Given the description of an element on the screen output the (x, y) to click on. 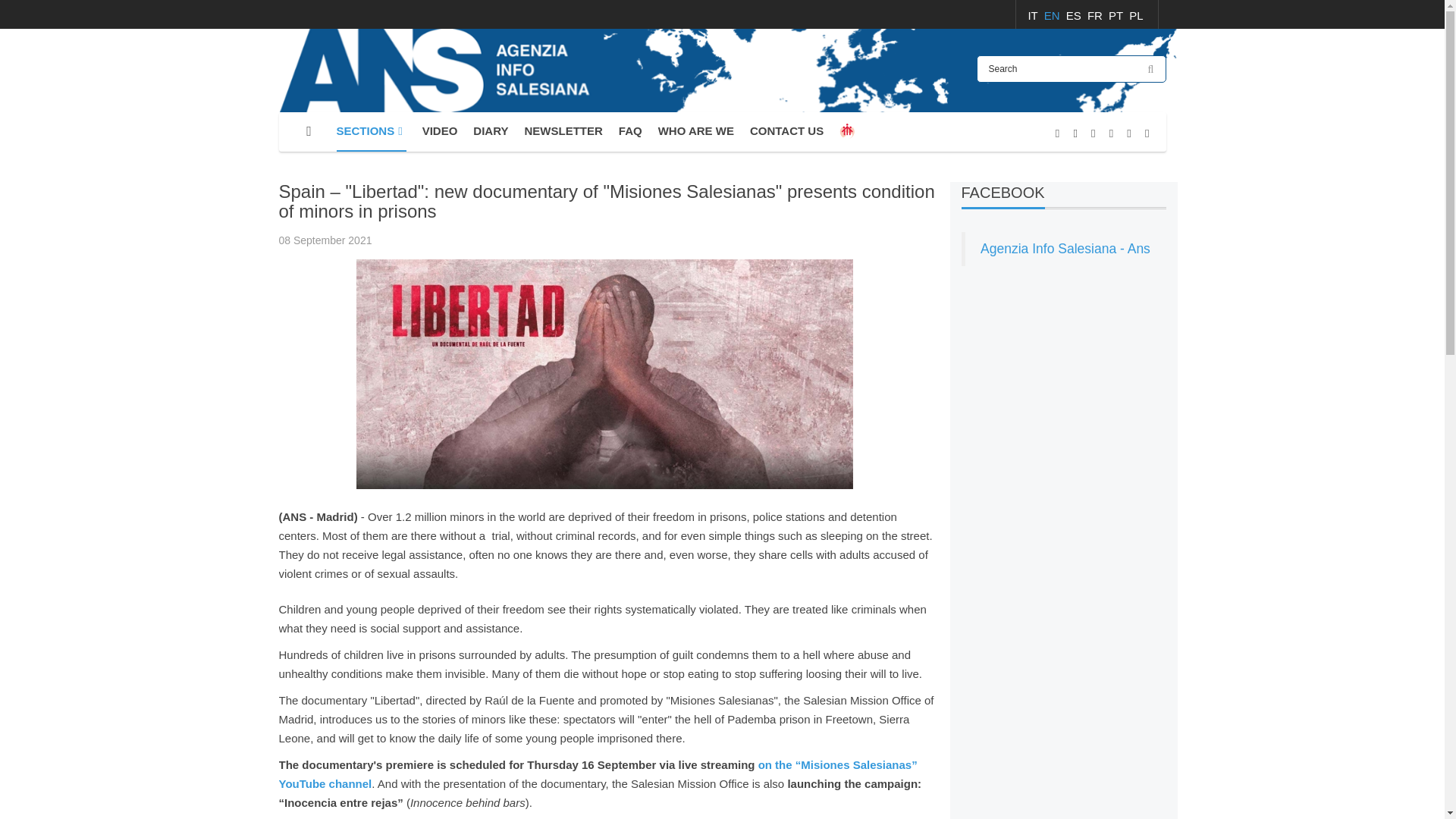
Search (1071, 68)
IT (1034, 15)
EN (1052, 15)
PL (1135, 15)
FR (1096, 15)
ES (1074, 15)
PT (1116, 15)
